Given the description of an element on the screen output the (x, y) to click on. 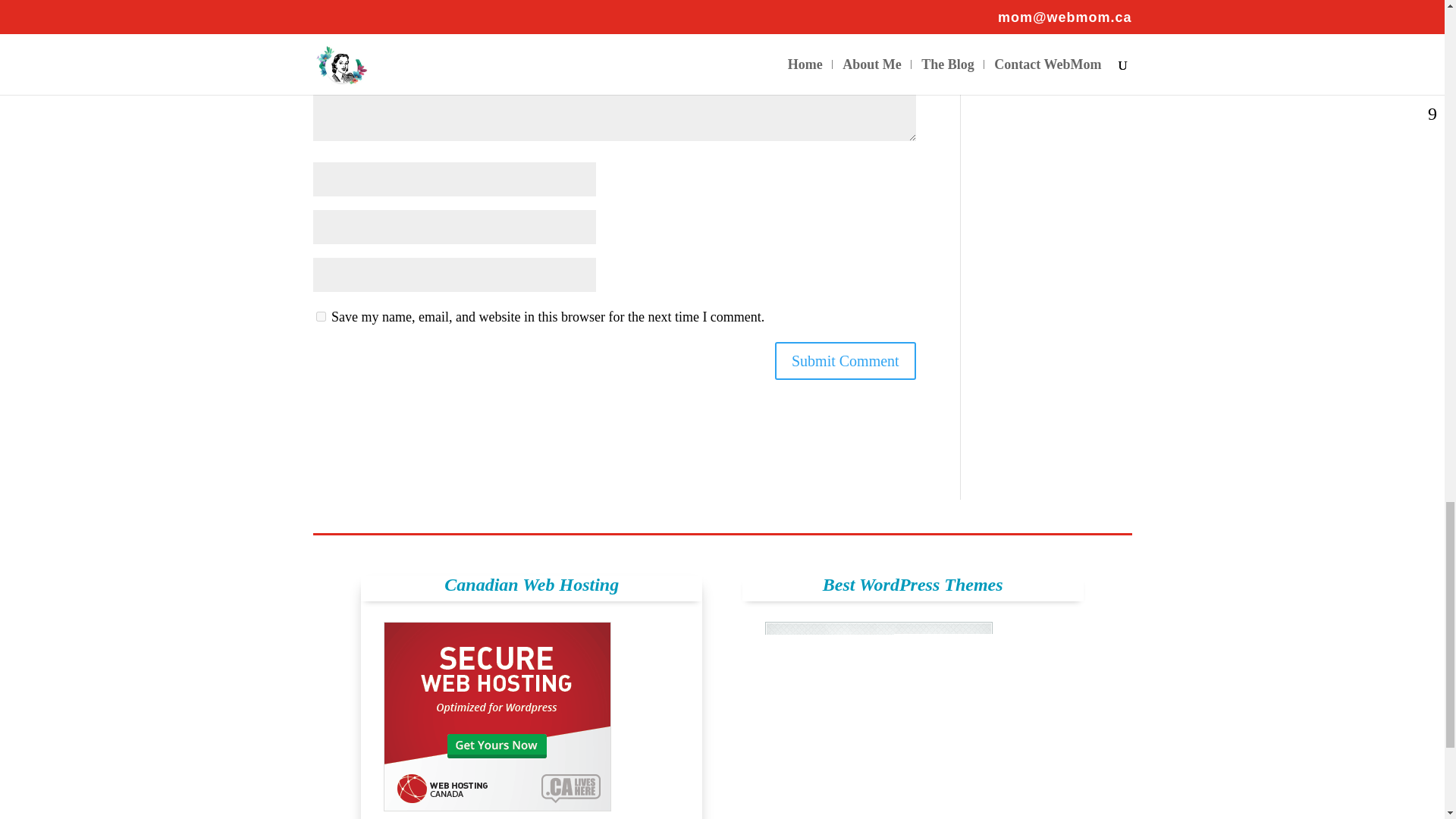
Submit Comment (844, 361)
Submit Comment (844, 361)
yes (319, 316)
